Given the description of an element on the screen output the (x, y) to click on. 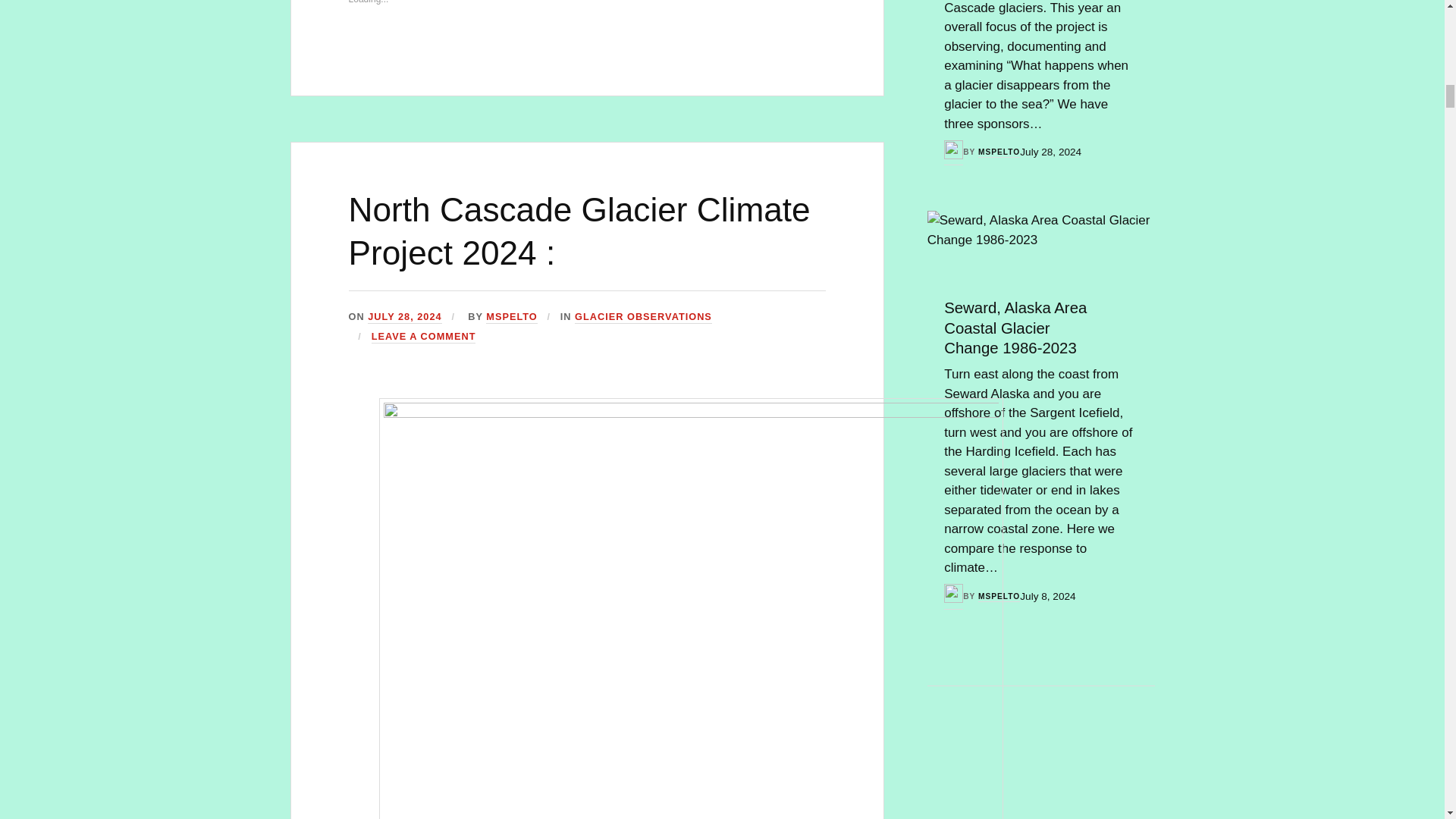
GLACIER OBSERVATIONS (643, 317)
JULY 28, 2024 (404, 317)
LEAVE A COMMENT (423, 336)
MSPELTO (511, 317)
North Cascade Glacier Climate Project 2024 : (579, 230)
